Given the description of an element on the screen output the (x, y) to click on. 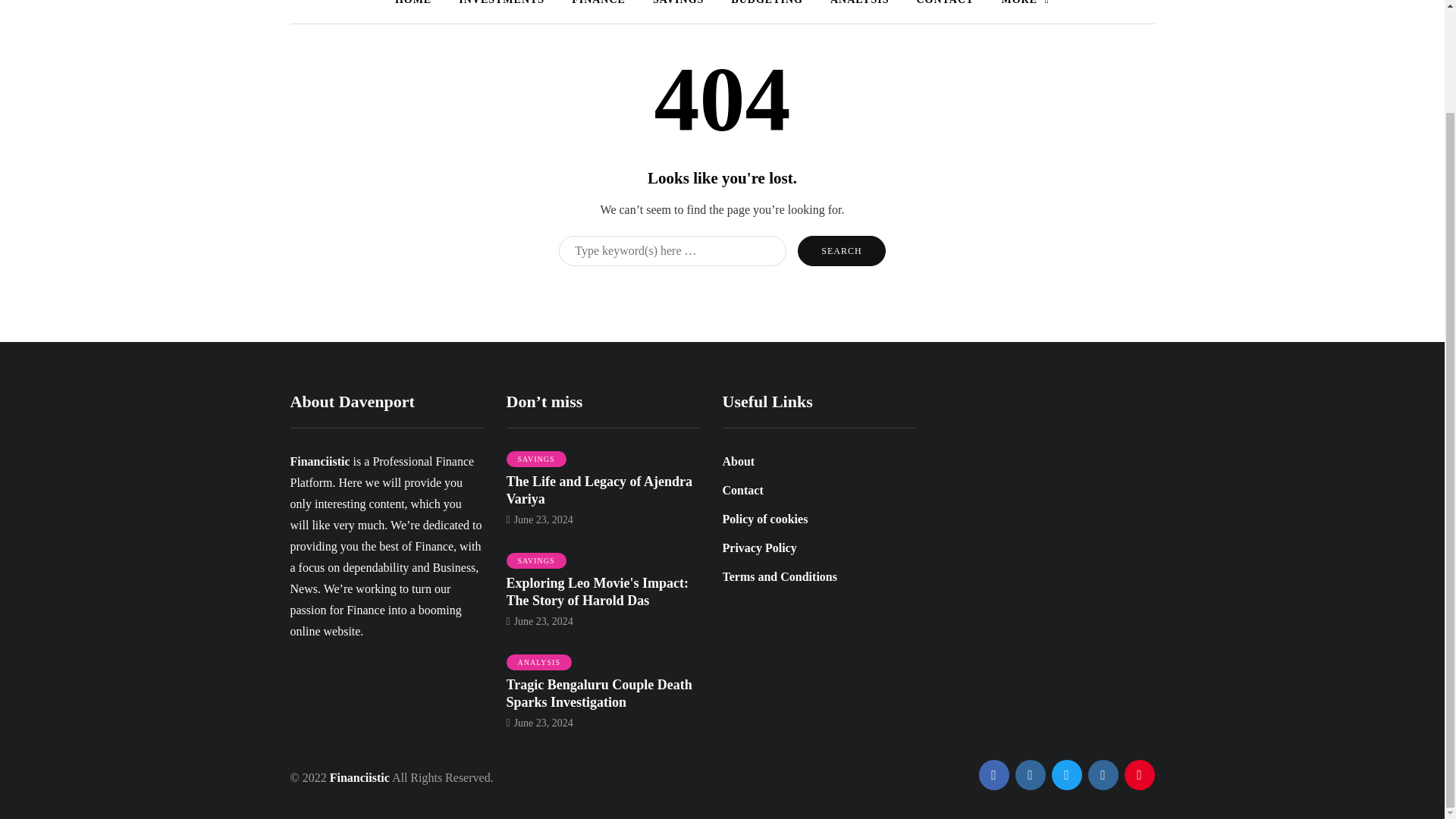
Search (841, 250)
FINANCE (598, 4)
ANALYSIS (859, 4)
BUDGETING (766, 4)
MORE (1024, 4)
Search (841, 250)
SAVINGS (678, 4)
CONTACT (944, 4)
INVESTMENTS (501, 4)
SAVINGS (536, 459)
HOME (413, 4)
